Given the description of an element on the screen output the (x, y) to click on. 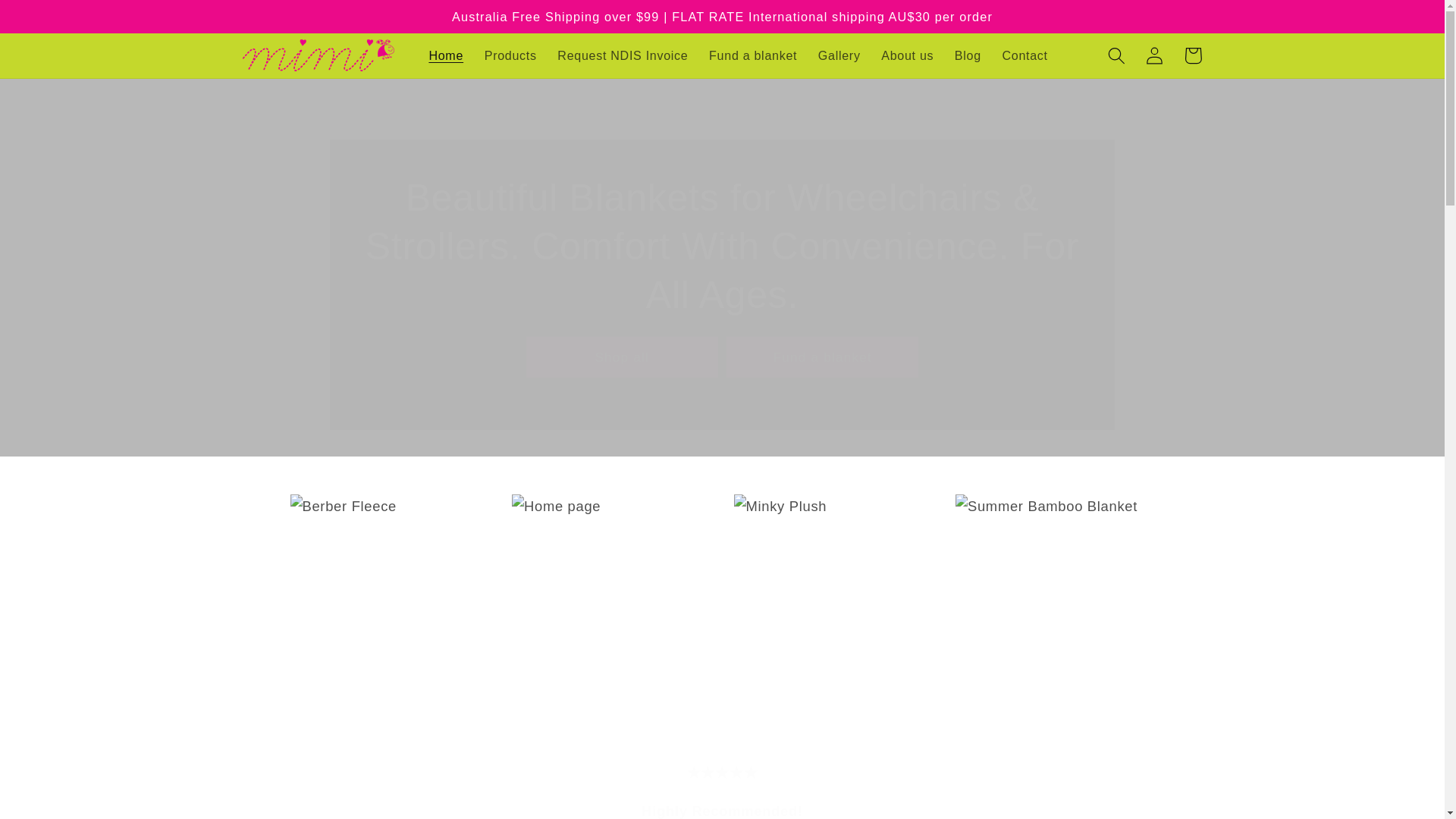
Gallery (839, 54)
About us (906, 54)
Home (446, 54)
Contact (1024, 54)
Shop all (621, 357)
Request NDIS Invoice (622, 54)
Cart (1192, 55)
Fund a blanket (753, 54)
Fund a blanket (822, 357)
Blog (967, 54)
